Given the description of an element on the screen output the (x, y) to click on. 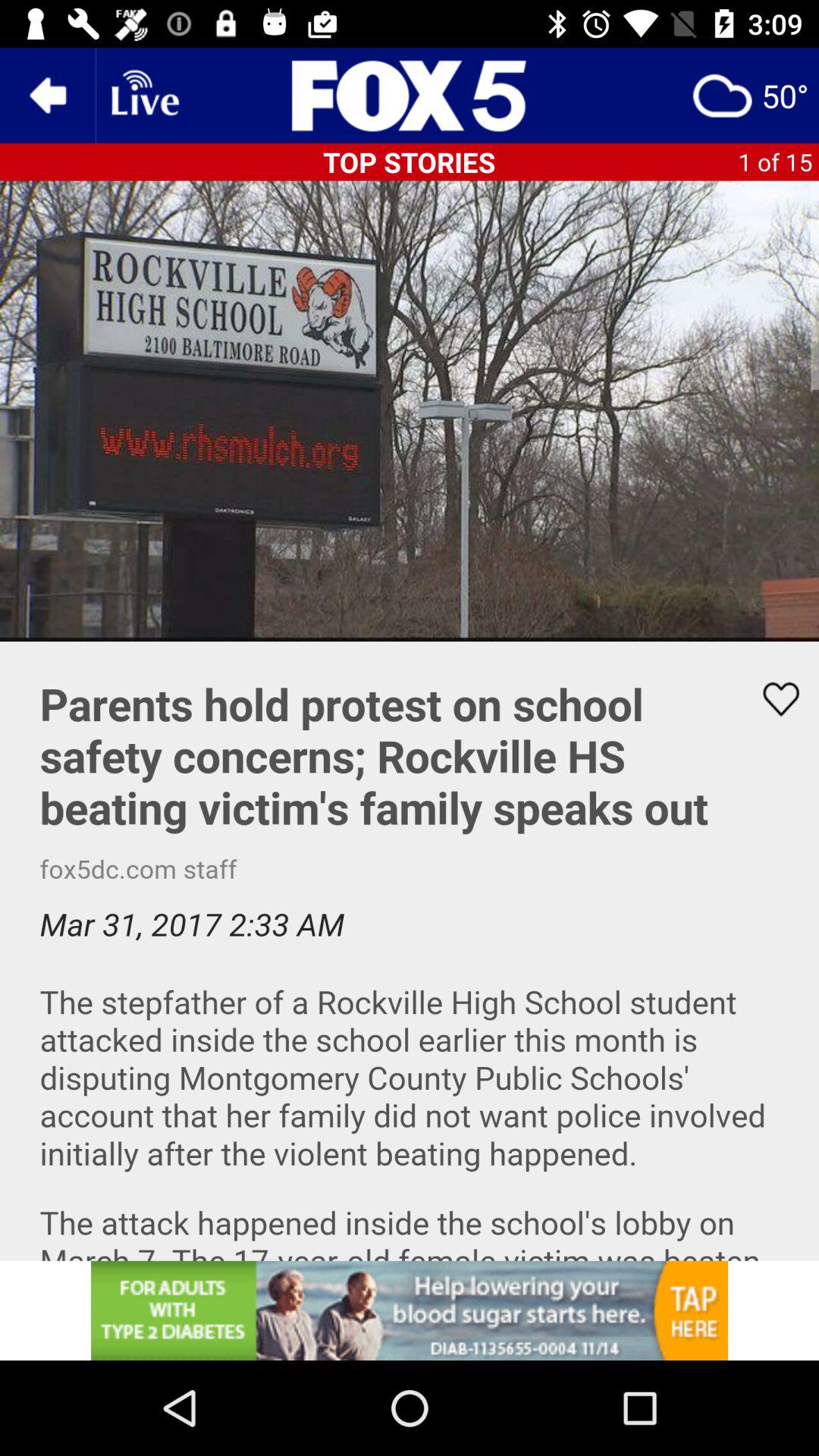
wi-fi option (143, 95)
